Given the description of an element on the screen output the (x, y) to click on. 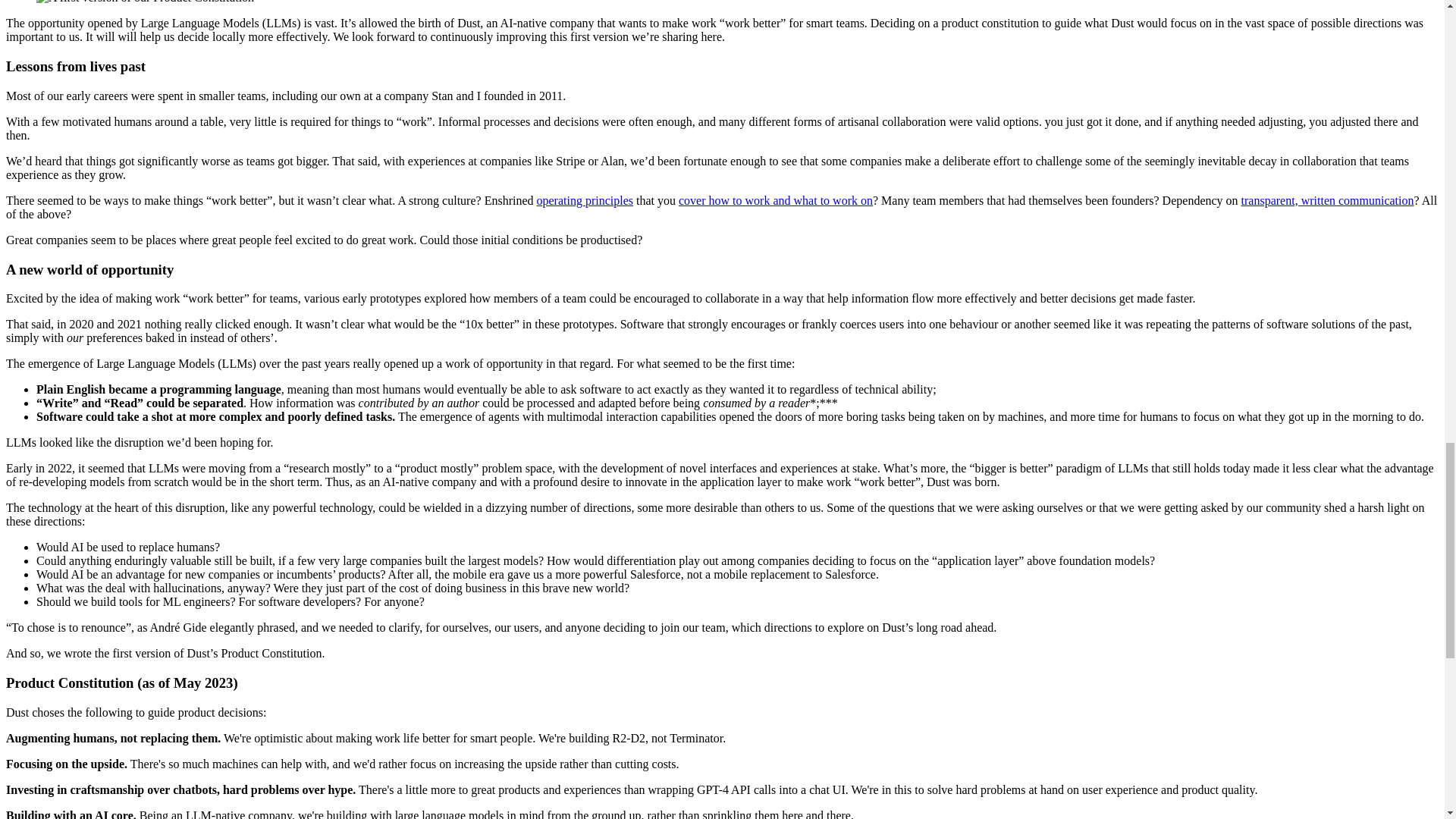
transparent, written communication (1327, 200)
cover how to work and what to work on (775, 200)
operating principles (585, 200)
